Given the description of an element on the screen output the (x, y) to click on. 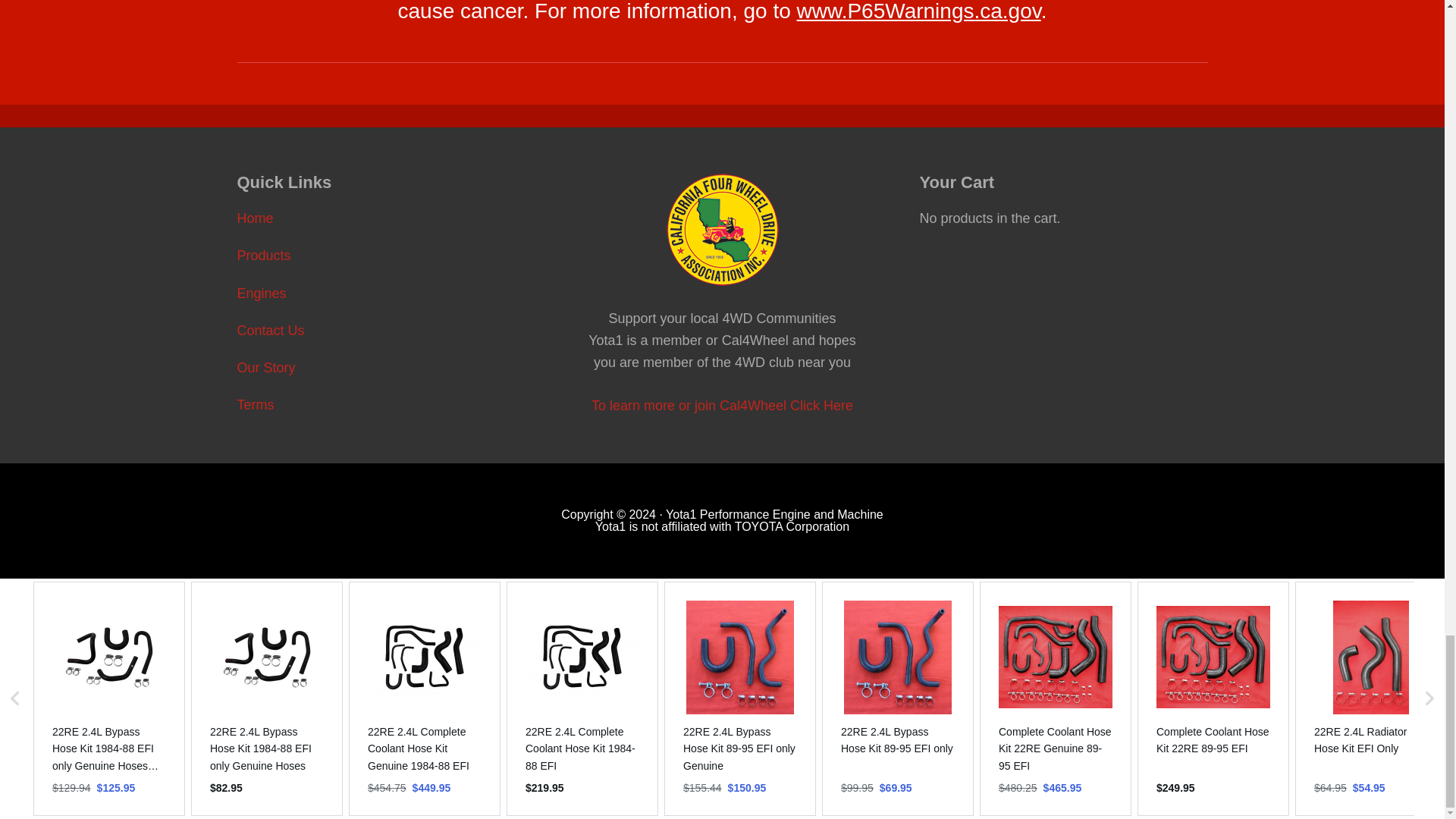
22RE 2.4L Radiator Hose Kit EFI Only (1371, 740)
22RE 2.4L Bypass Hose Kit 1984-88 EFI only Genuine Hoses (266, 748)
22RE 2.4L Bypass Hose Kit 89-95 EFI only (898, 740)
Complete Coolant Hose Kit 22RE 89-95 EFI (1212, 740)
22RE 2.4L Complete Coolant Hose Kit Genuine 1984-88 EFI (424, 748)
22RE 2.4L Complete Coolant Hose Kit 1984-88 EFI (582, 748)
22RE 2.4L Bypass Hose Kit 89-95 EFI only Genuine (739, 748)
Complete Coolant Hose Kit 22RE Genuine 89-95 EFI (1055, 748)
